Given the description of an element on the screen output the (x, y) to click on. 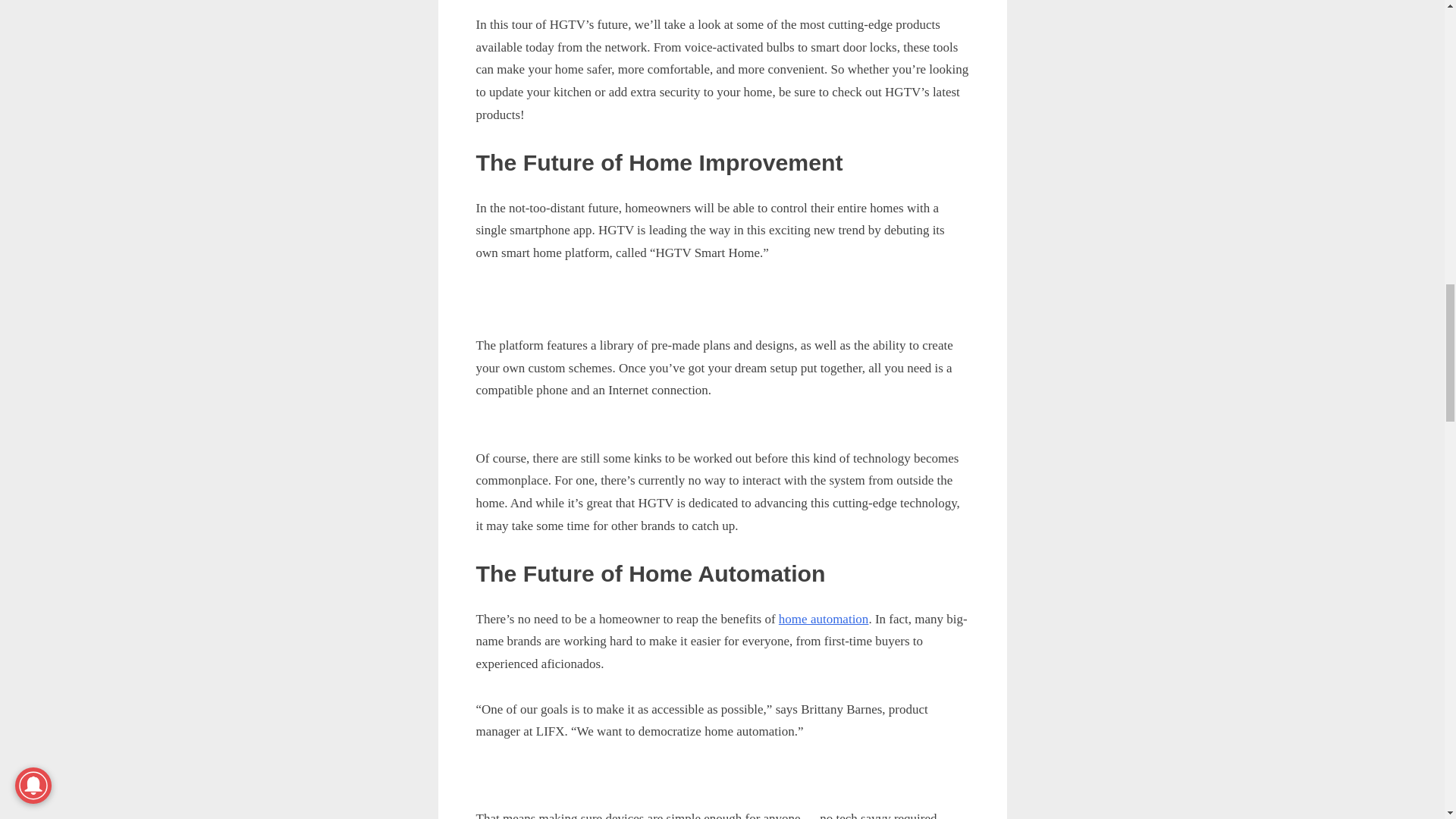
home automation (823, 618)
